Given the description of an element on the screen output the (x, y) to click on. 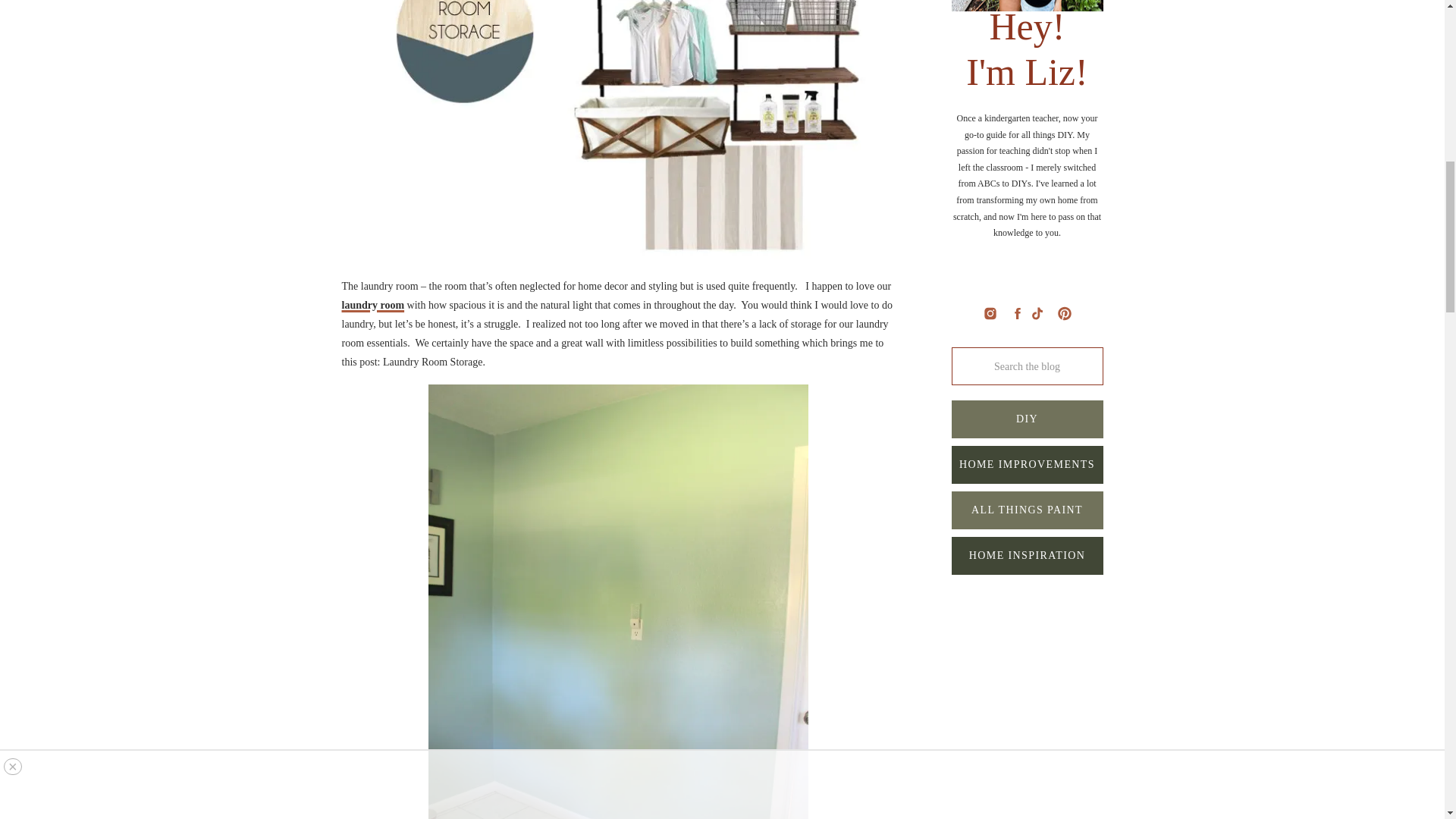
HOME INSPIRATION (1026, 555)
HOME IMPROVEMENTS (1026, 464)
ALL THINGS PAINT (1026, 509)
DIY (1026, 418)
laundry room (372, 305)
